Given the description of an element on the screen output the (x, y) to click on. 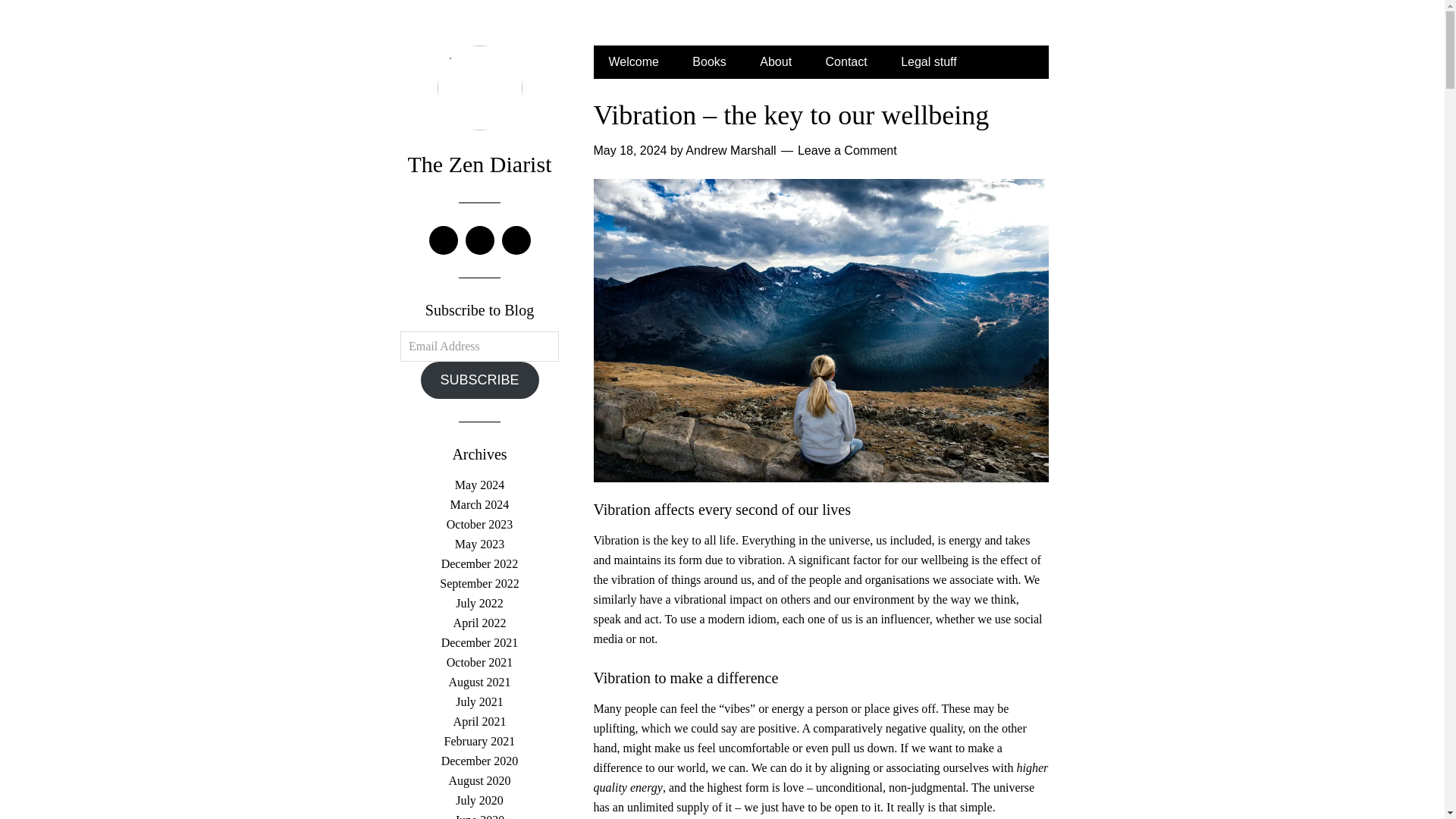
July 2021 (479, 701)
December 2021 (479, 642)
May 2024 (478, 484)
August 2020 (479, 780)
The Zen Diarist (479, 163)
July 2020 (479, 799)
October 2021 (479, 662)
SUBSCRIBE (479, 379)
April 2021 (479, 721)
February 2021 (479, 740)
December 2020 (479, 760)
May 2023 (478, 543)
June 2020 (478, 816)
August 2021 (479, 681)
October 2023 (479, 523)
